Given the description of an element on the screen output the (x, y) to click on. 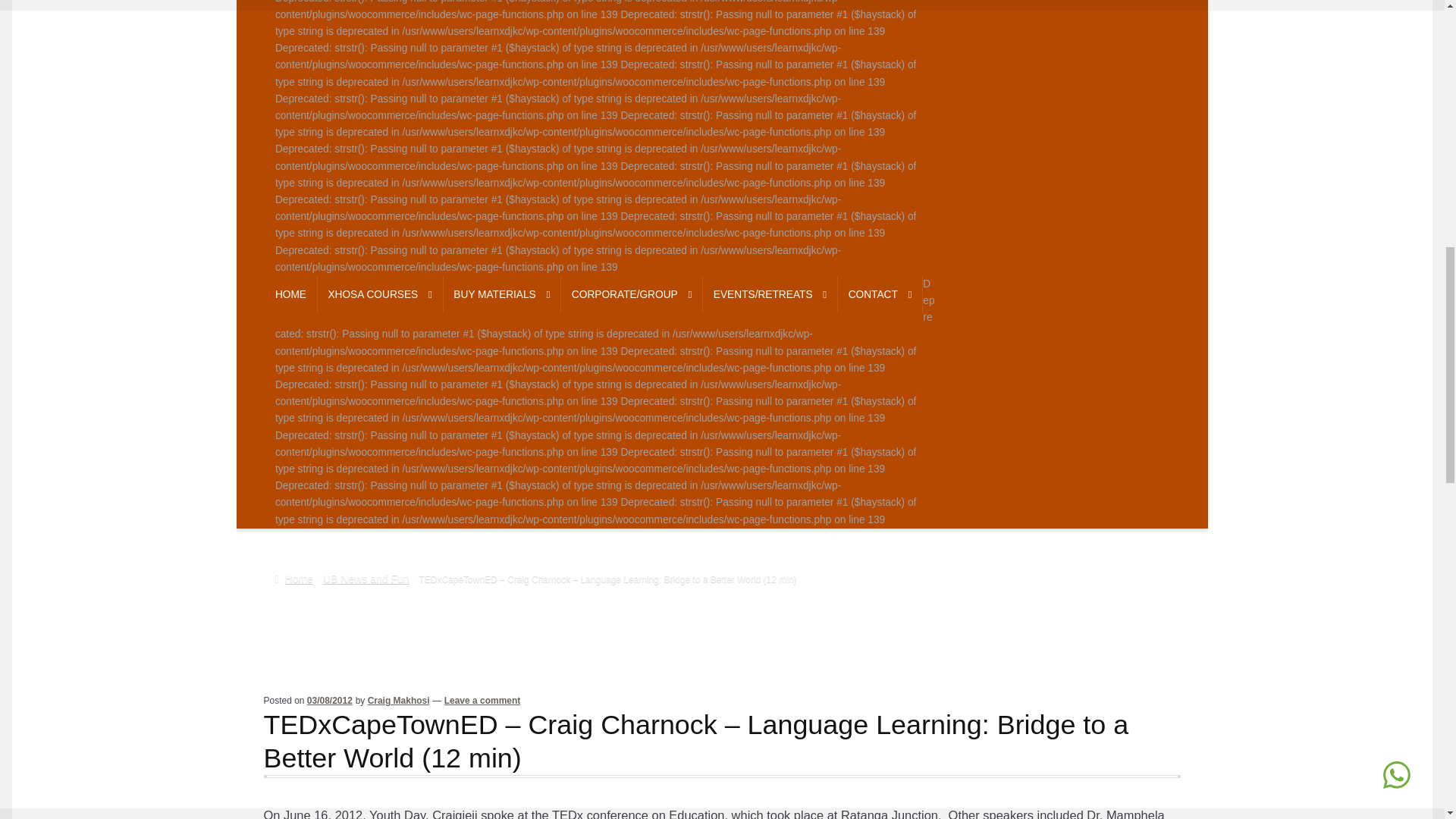
XHOSA COURSES (379, 294)
HOME (290, 294)
CONTACT (879, 294)
BUY MATERIALS (502, 294)
